Given the description of an element on the screen output the (x, y) to click on. 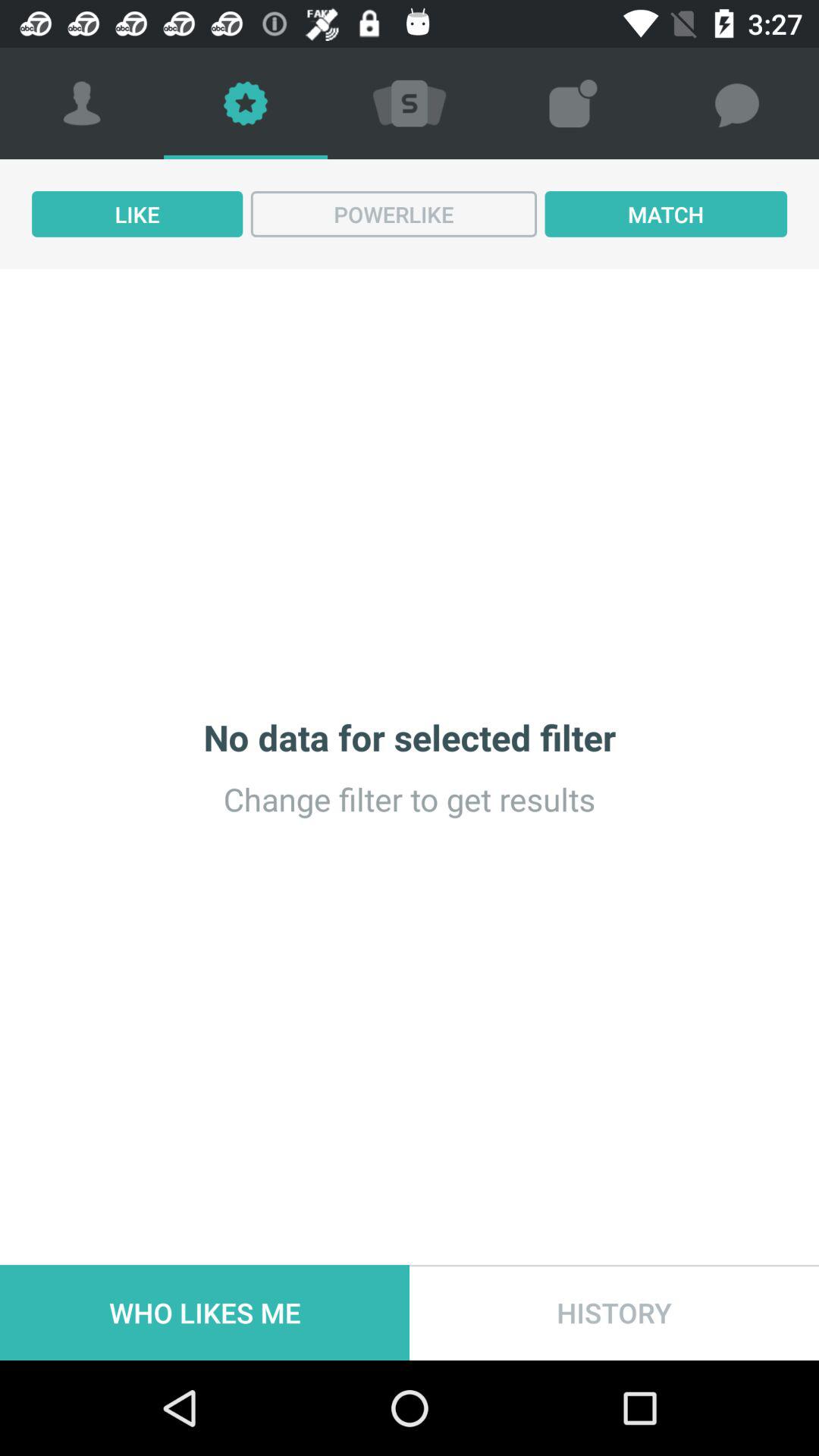
choose icon to the right of the who likes me item (614, 1312)
